Given the description of an element on the screen output the (x, y) to click on. 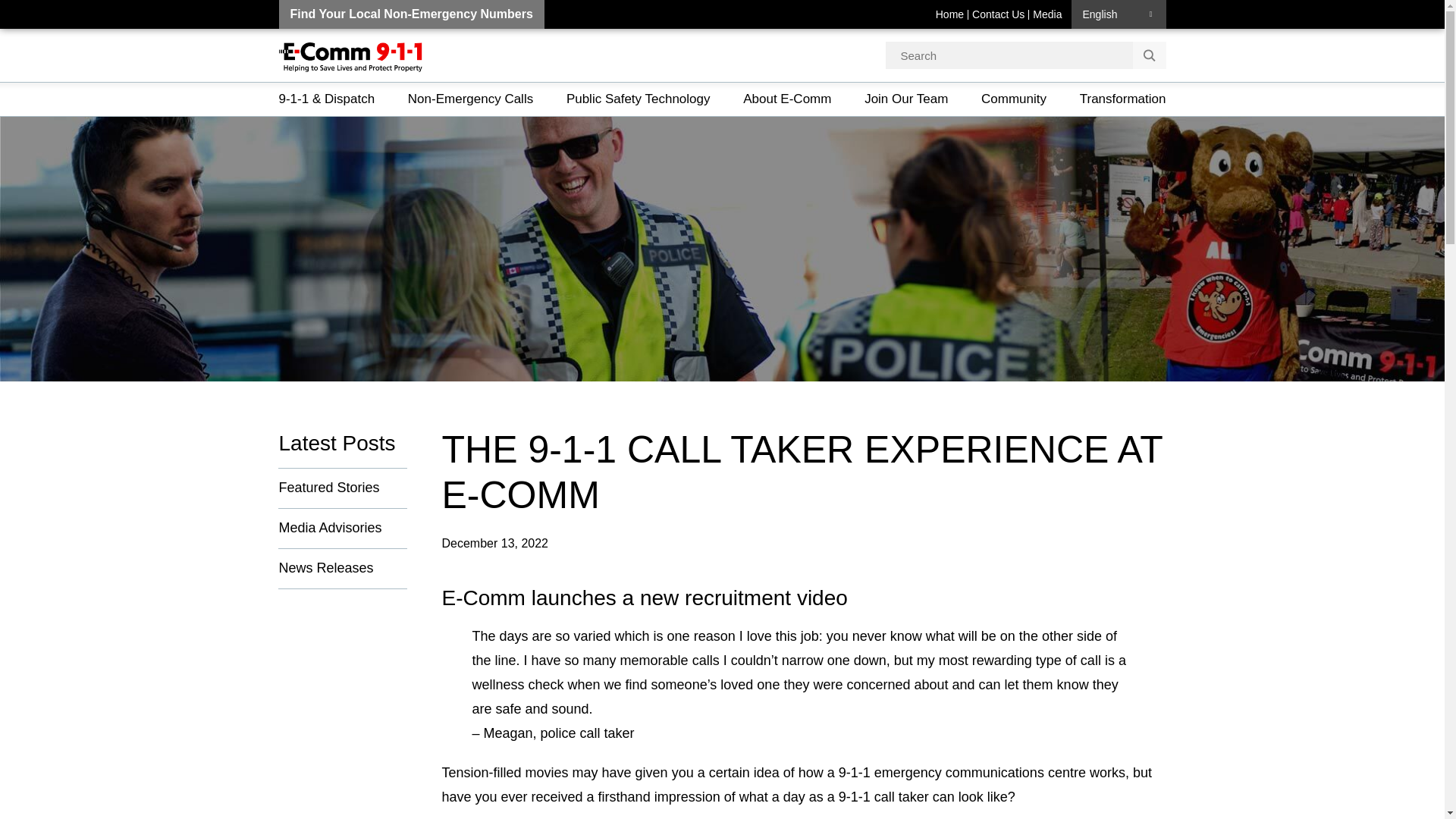
Search (1149, 54)
Public Safety Technology (638, 99)
English (1118, 14)
Non-Emergency Calls (470, 99)
Contact Us (997, 14)
Home (949, 14)
Media (1047, 14)
About E-Comm (787, 99)
Search (1149, 54)
Find Your Local Non-Emergency Numbers (411, 14)
